Given the description of an element on the screen output the (x, y) to click on. 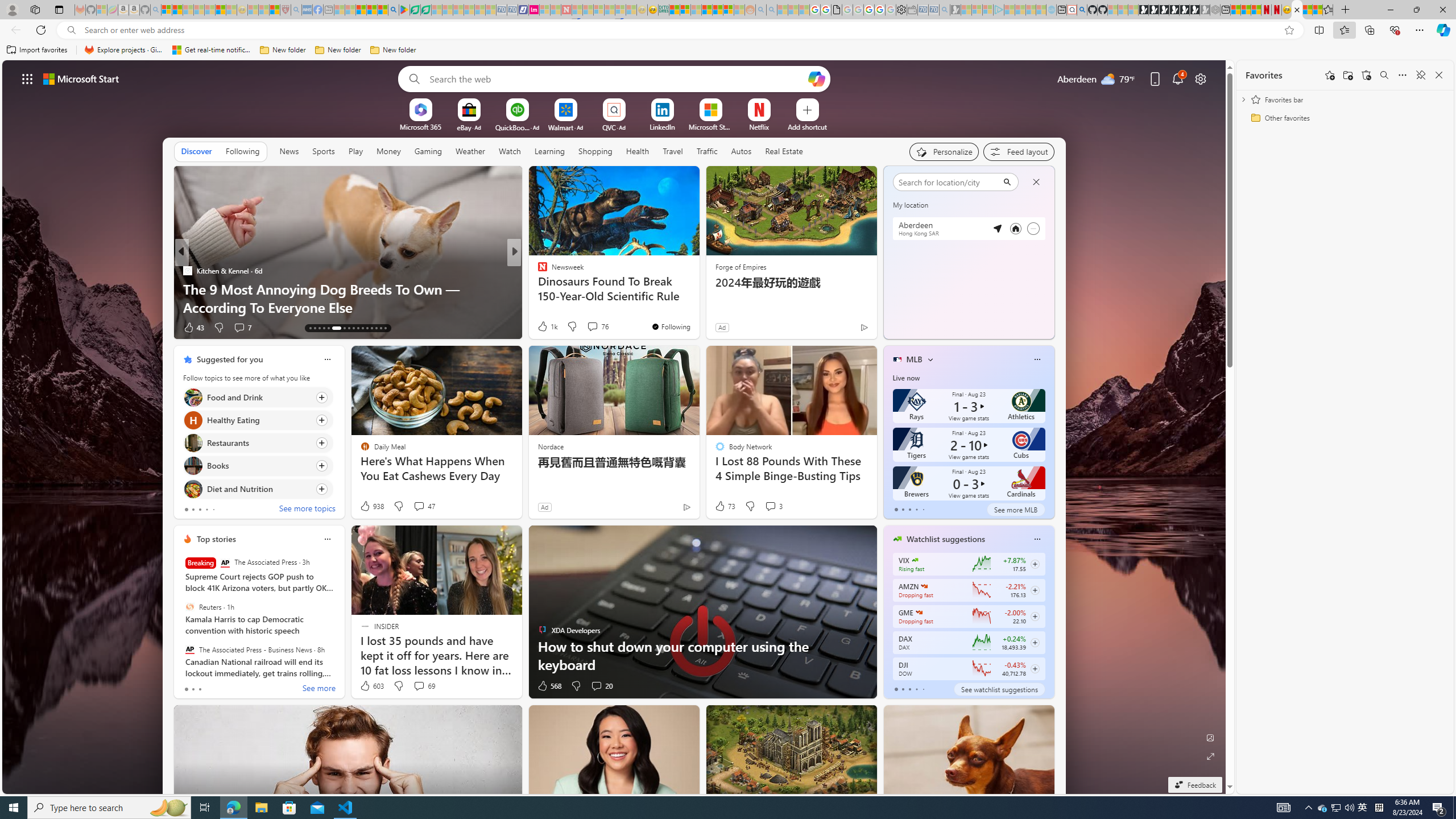
Top stories (215, 538)
Wildlife - MSN (1307, 9)
